Given the description of an element on the screen output the (x, y) to click on. 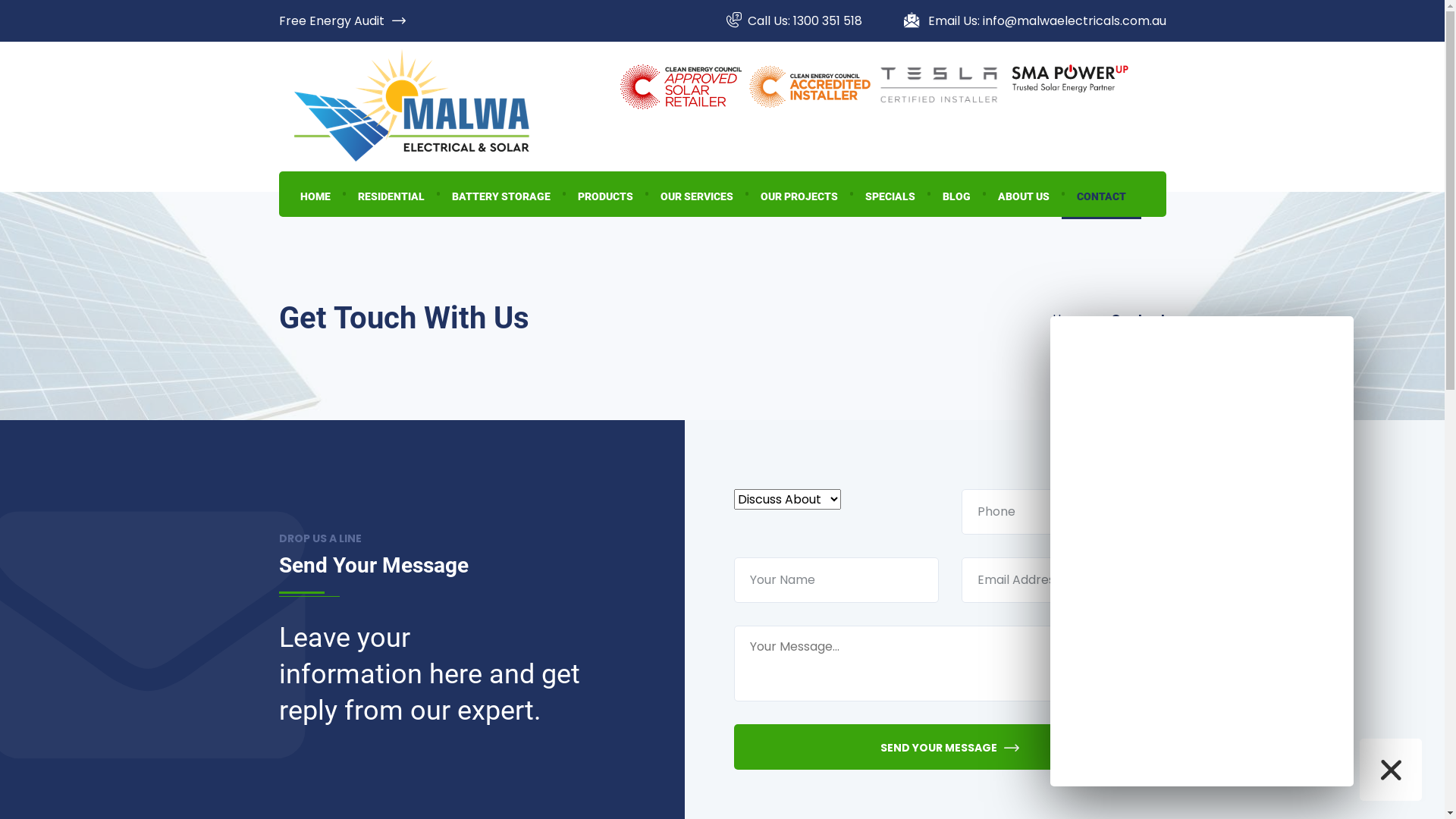
Home Element type: text (1070, 318)
PRODUCTS Element type: text (605, 193)
Free Energy Audit Element type: text (342, 20)
Hey, click here to get your discount!
1 Element type: text (1316, 771)
1300 351 518 Element type: text (827, 20)
OUR PROJECTS Element type: text (798, 193)
BATTERY STORAGE Element type: text (501, 193)
ABOUT US Element type: text (1023, 193)
SEND YOUR MESSAGE Element type: text (950, 745)
SPECIALS Element type: text (889, 193)
OUR SERVICES Element type: text (696, 193)
info@malwaelectricals.com.au Element type: text (1074, 20)
CONTACT Element type: text (1101, 193)
RESIDENTIAL Element type: text (391, 193)
HOME Element type: text (315, 193)
BLOG Element type: text (955, 193)
